Given the description of an element on the screen output the (x, y) to click on. 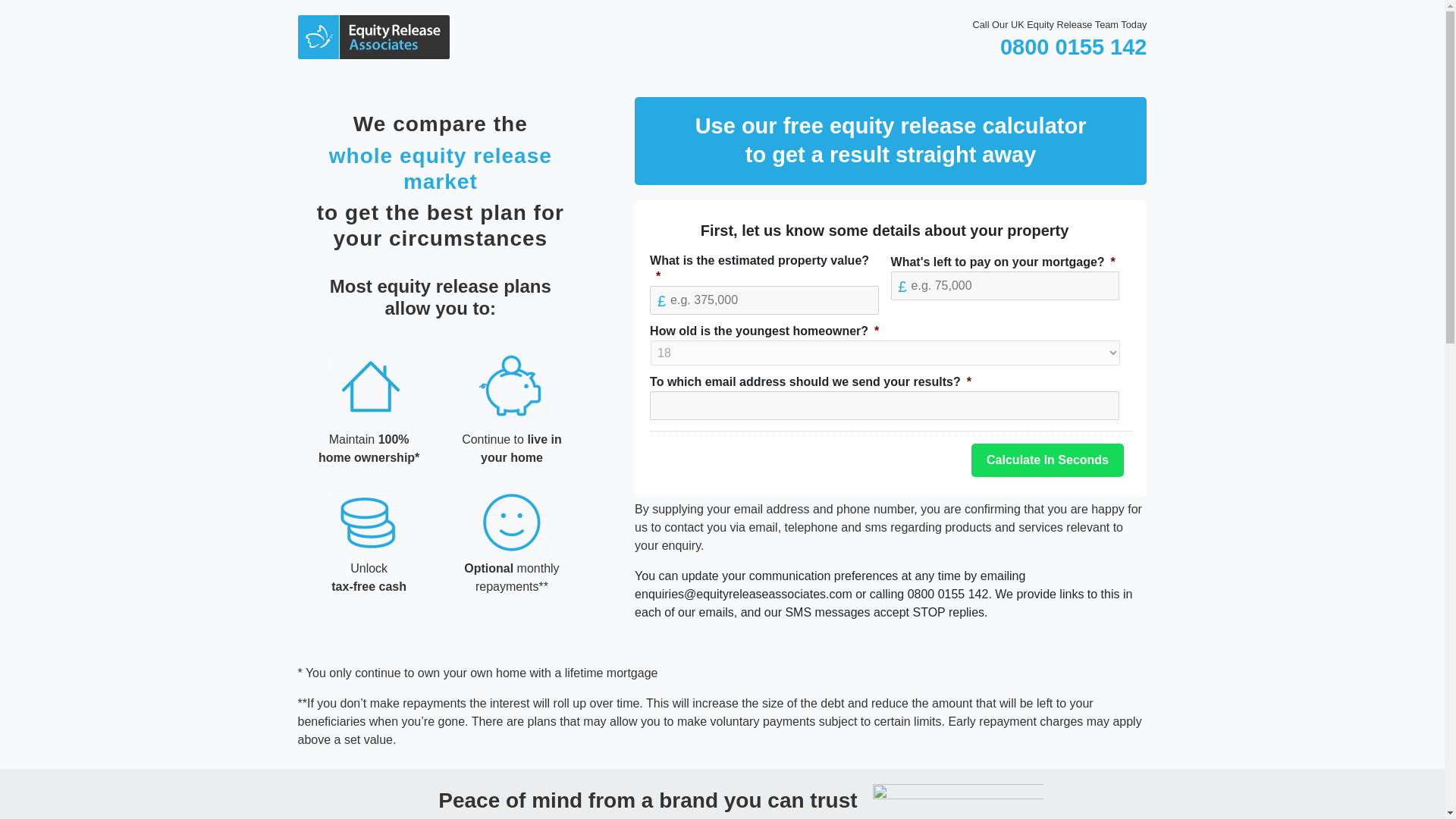
AP New brand icons-32 (369, 386)
AP New brand icons-07 (512, 386)
Calculate In Seconds (1047, 459)
AP New brand icons-38 (512, 523)
